Given the description of an element on the screen output the (x, y) to click on. 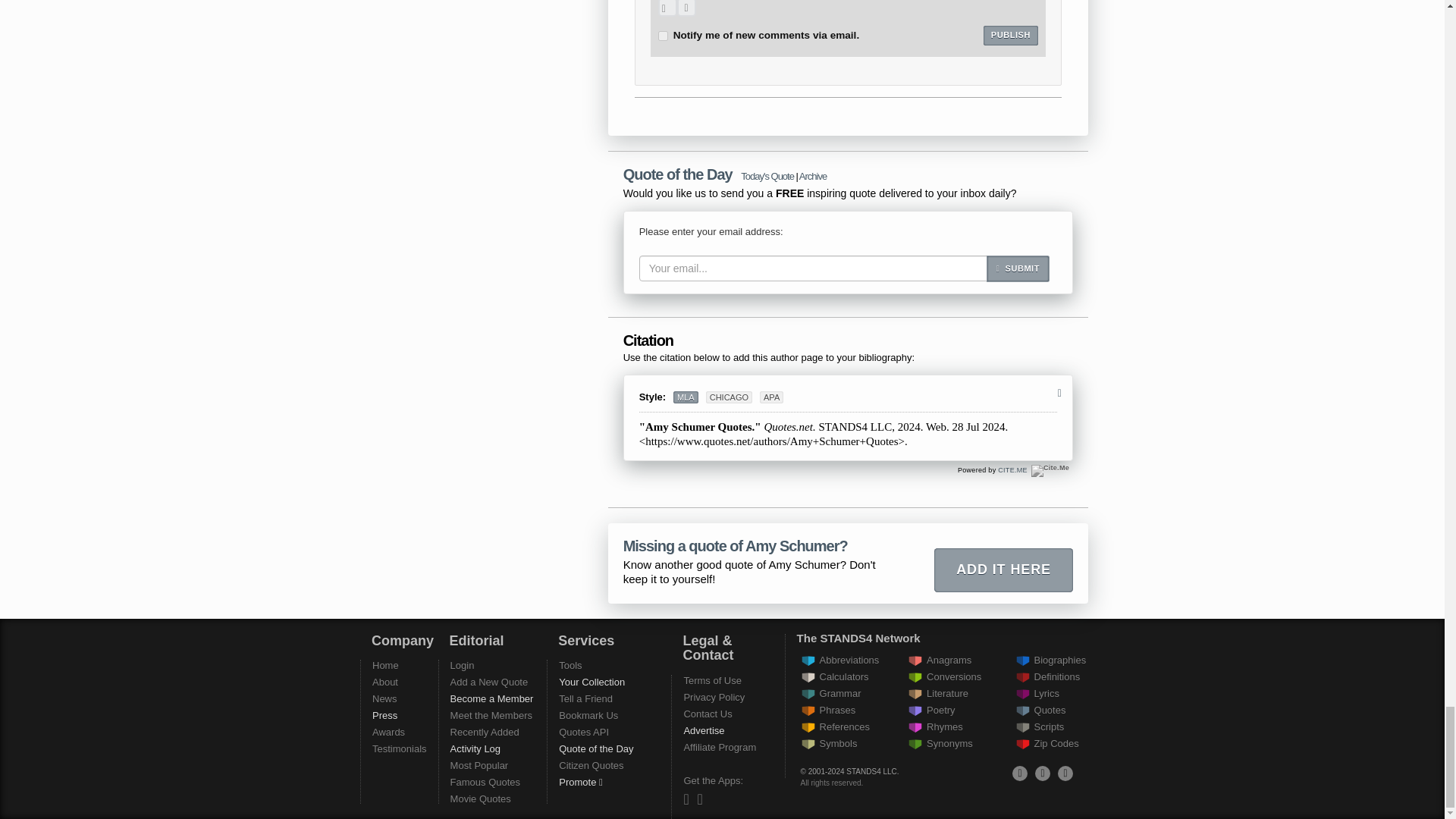
Record a sound (686, 8)
Cite.Me (1050, 470)
Upload an image (667, 8)
on (663, 35)
Cite.Me (1049, 470)
Copy to clipboard (1058, 393)
Cite.Me (1012, 470)
